Given the description of an element on the screen output the (x, y) to click on. 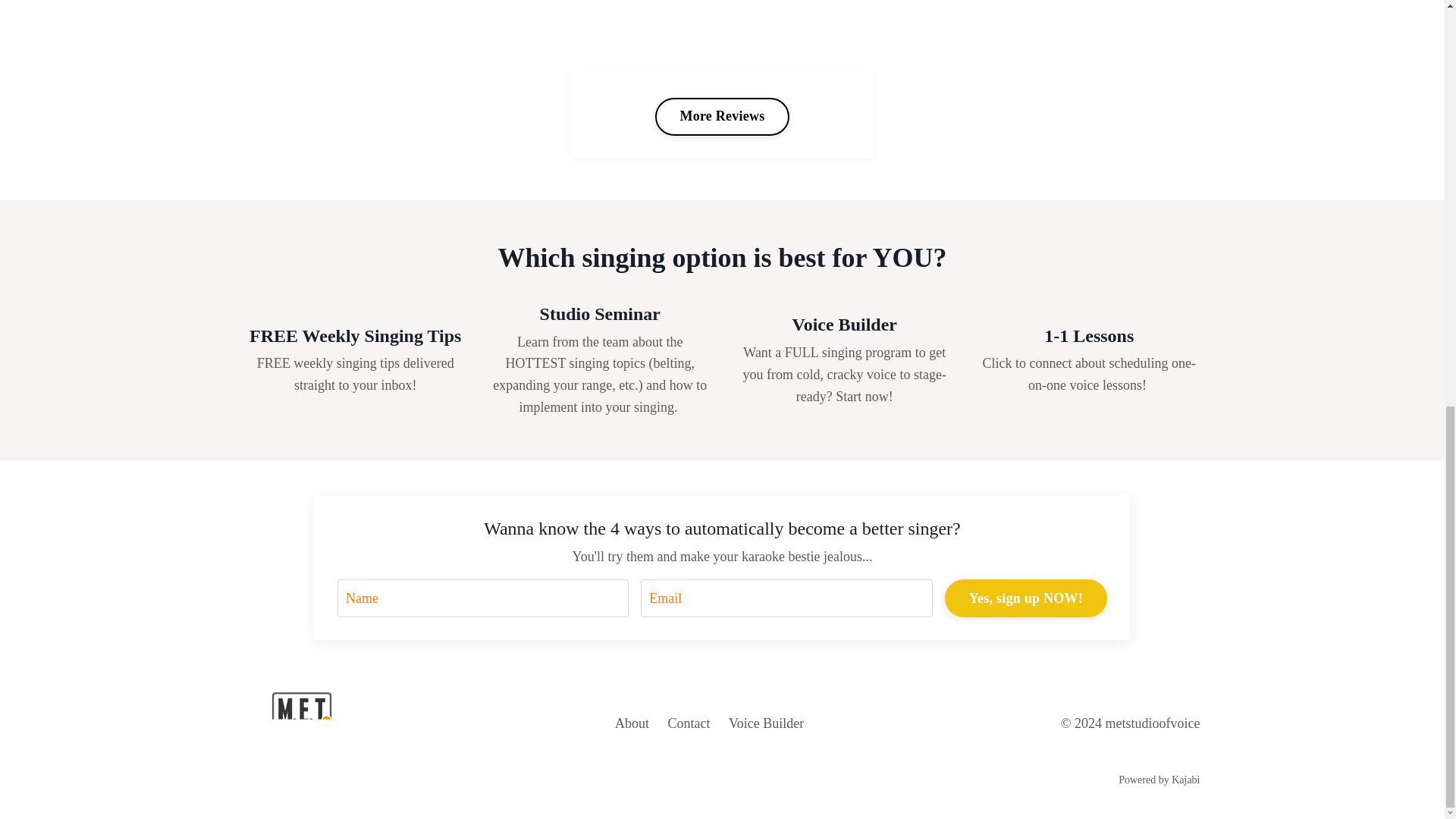
Powered by Kajabi (1158, 779)
Learn from the team about the HOTTEST singing topics (593, 352)
About (631, 723)
Click to connect about scheduling one-on-one voice lessons!  (1088, 374)
More Reviews (722, 116)
FREE weekly singing tips delivered straight to your inbox! (355, 374)
Contact (689, 723)
Start now! (864, 396)
Yes, sign up NOW! (1025, 598)
Voice Builder (766, 723)
